Given the description of an element on the screen output the (x, y) to click on. 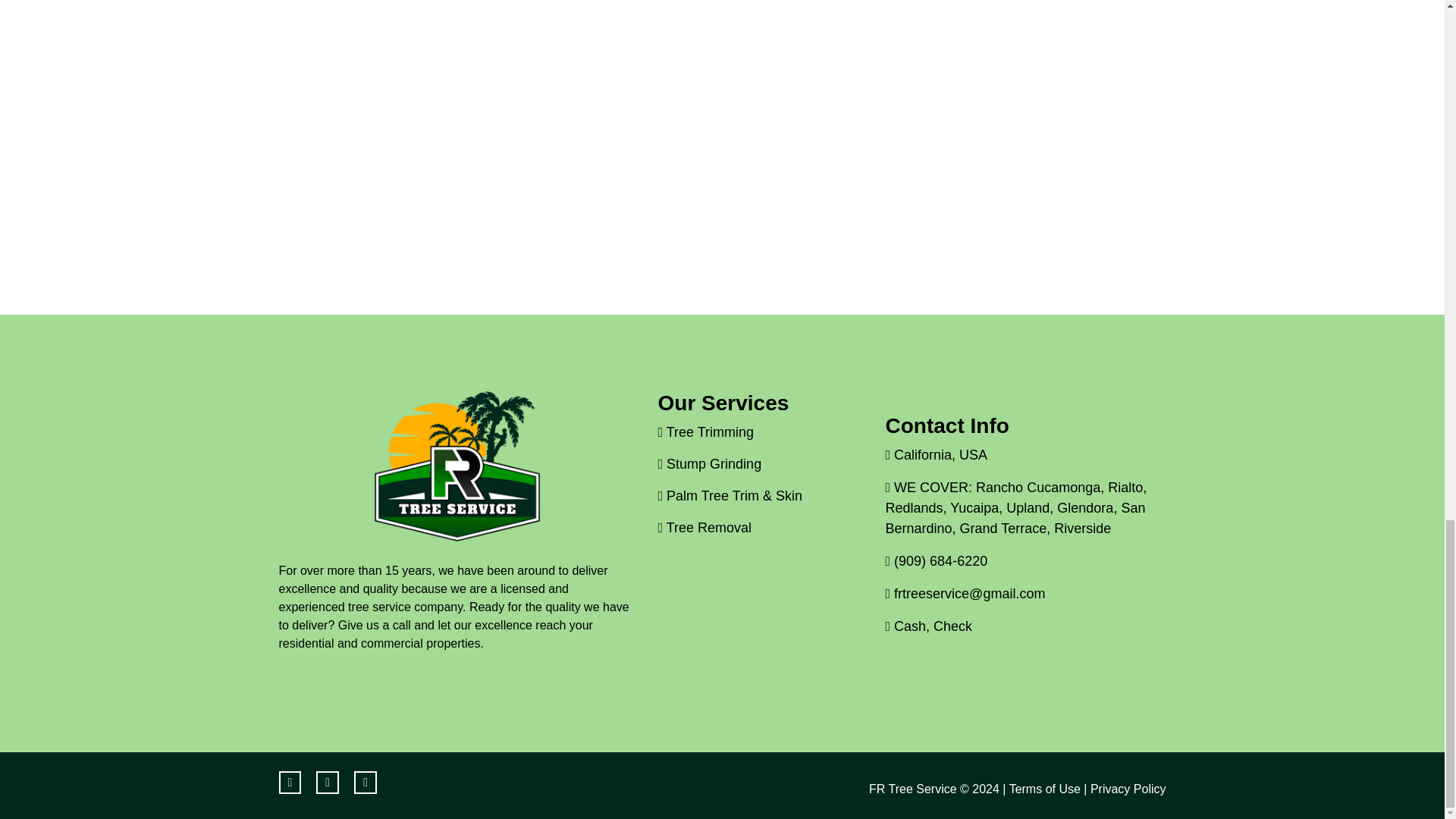
Tree Trimming (706, 432)
Tree Removal (705, 527)
Stump Grinding (709, 463)
